Given the description of an element on the screen output the (x, y) to click on. 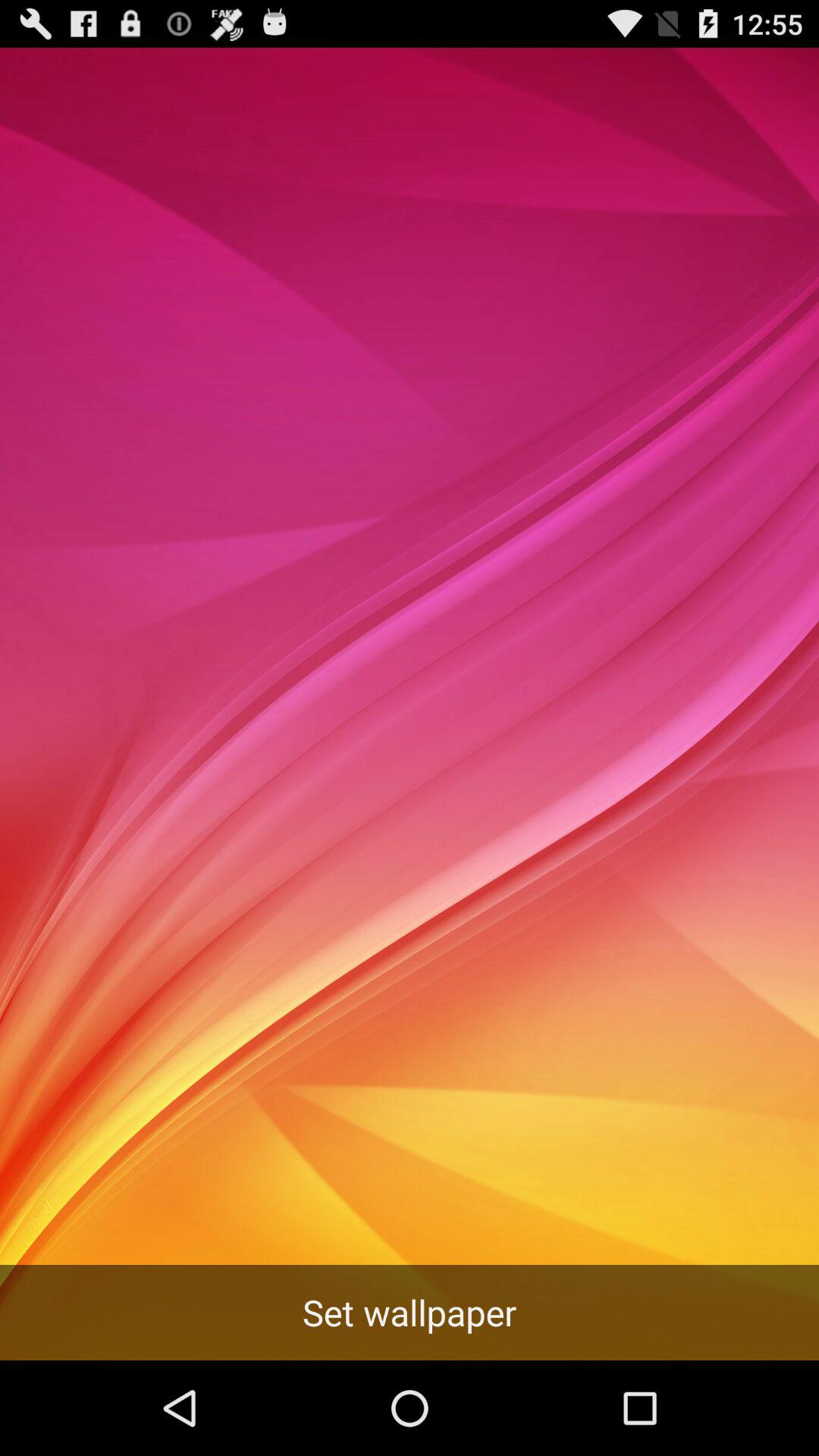
click set wallpaper button (409, 1312)
